Given the description of an element on the screen output the (x, y) to click on. 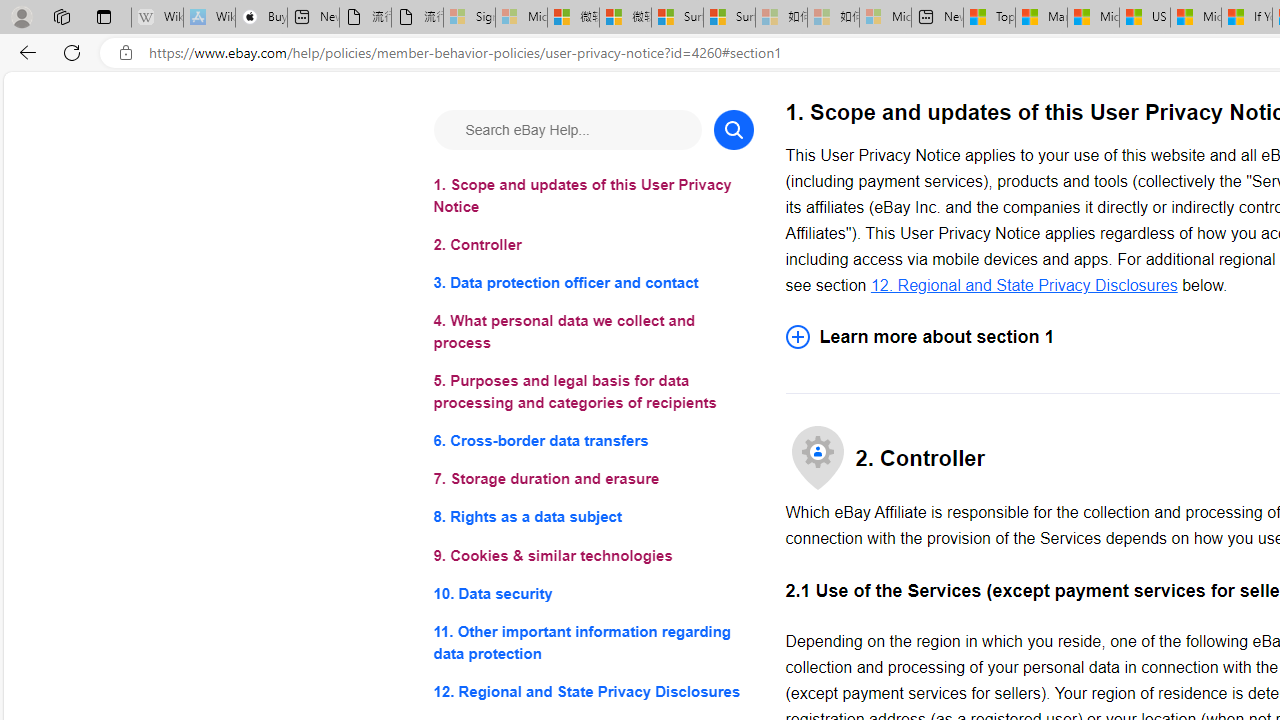
7. Storage duration and erasure (592, 479)
1. Scope and updates of this User Privacy Notice (592, 196)
2. Controller (592, 245)
11. Other important information regarding data protection (592, 642)
4. What personal data we collect and process (592, 332)
6. Cross-border data transfers (592, 440)
3. Data protection officer and contact (592, 283)
